Given the description of an element on the screen output the (x, y) to click on. 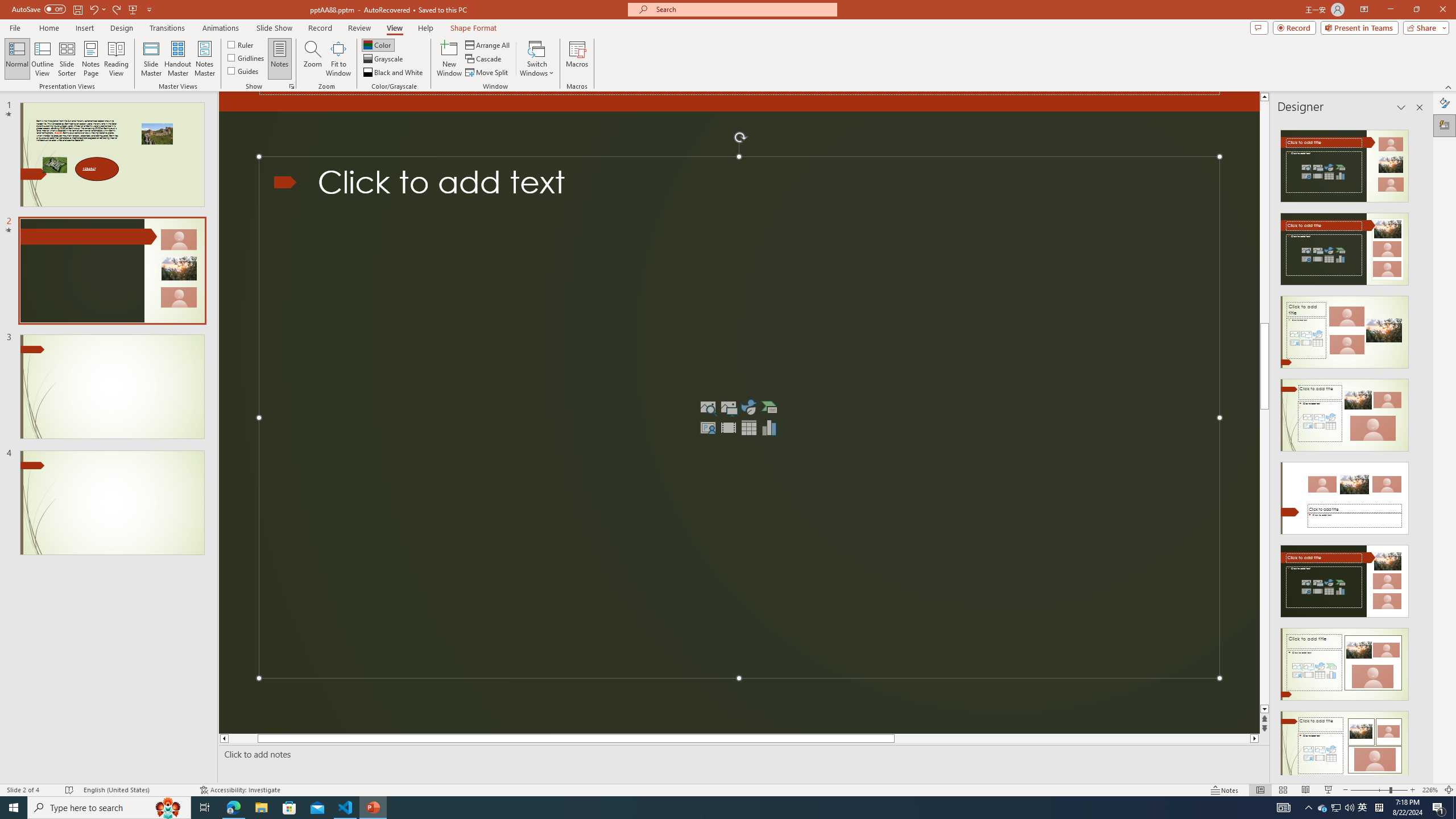
Grid Settings... (291, 85)
Notes (279, 58)
Content Placeholder (739, 417)
New Window (449, 58)
Insert Chart (769, 427)
